Given the description of an element on the screen output the (x, y) to click on. 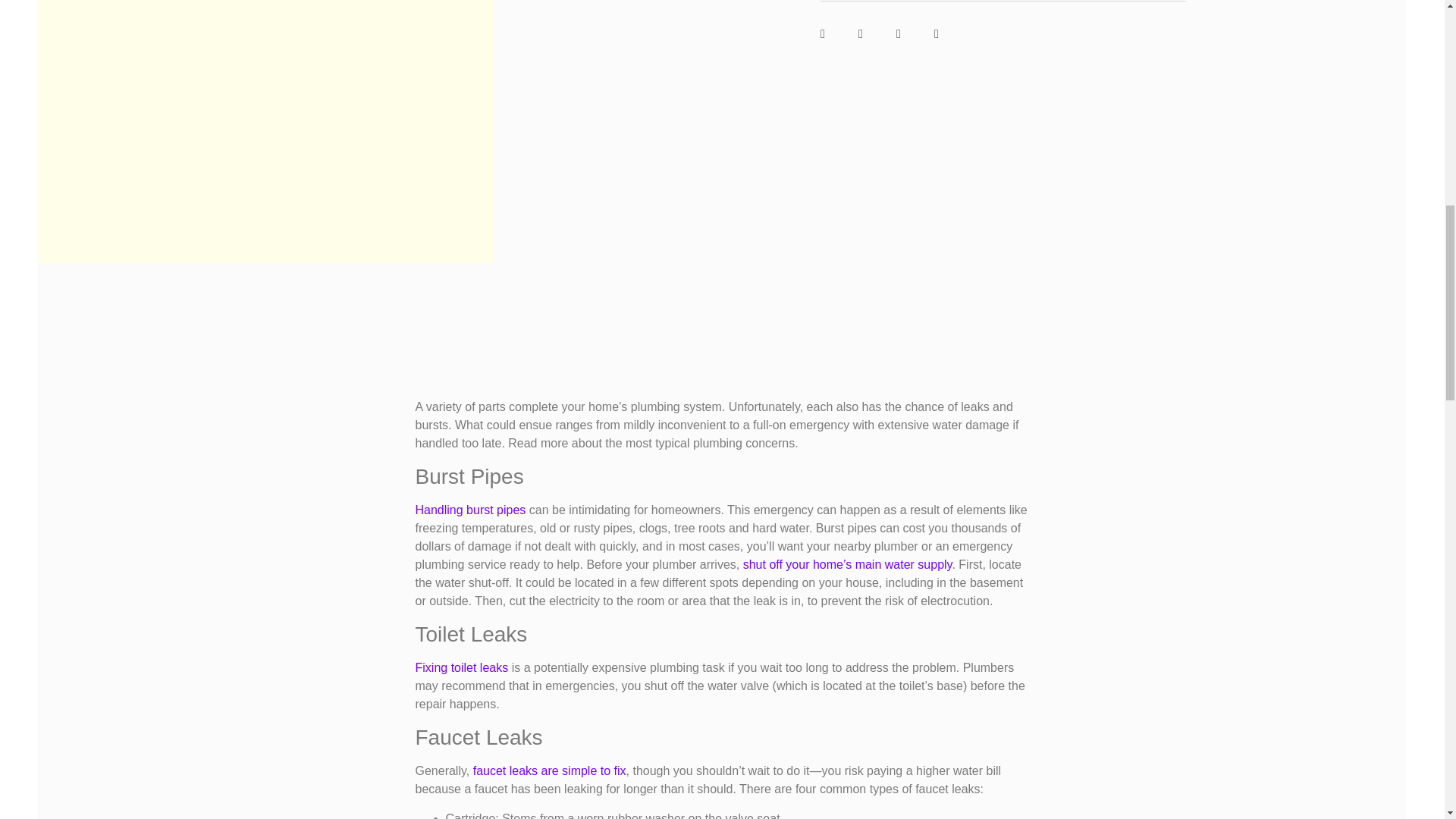
Fixing toilet leaks (461, 667)
faucet leaks are simple to fix (549, 770)
Handling burst pipes (469, 509)
